Given the description of an element on the screen output the (x, y) to click on. 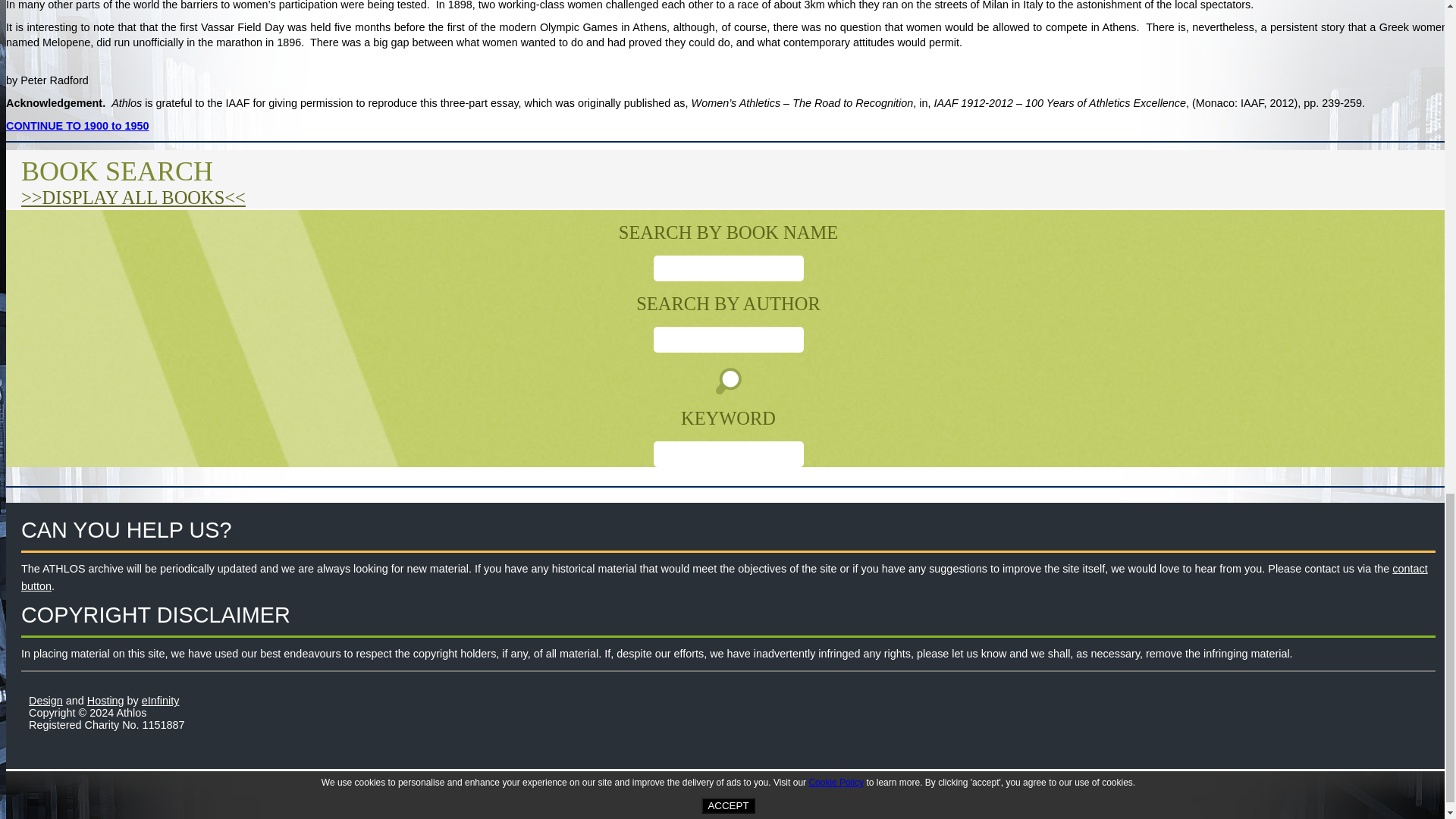
contact button (724, 577)
Contact Us (724, 577)
eInfinity (160, 700)
Cookie Policy (835, 782)
Hosting (105, 700)
CONTINUE TO 1900 to 1950 (76, 125)
Design (45, 700)
BOOK SEARCH (116, 171)
Women in Athletics - from 1900 - 1950 (76, 125)
ACCEPT (727, 805)
